Given the description of an element on the screen output the (x, y) to click on. 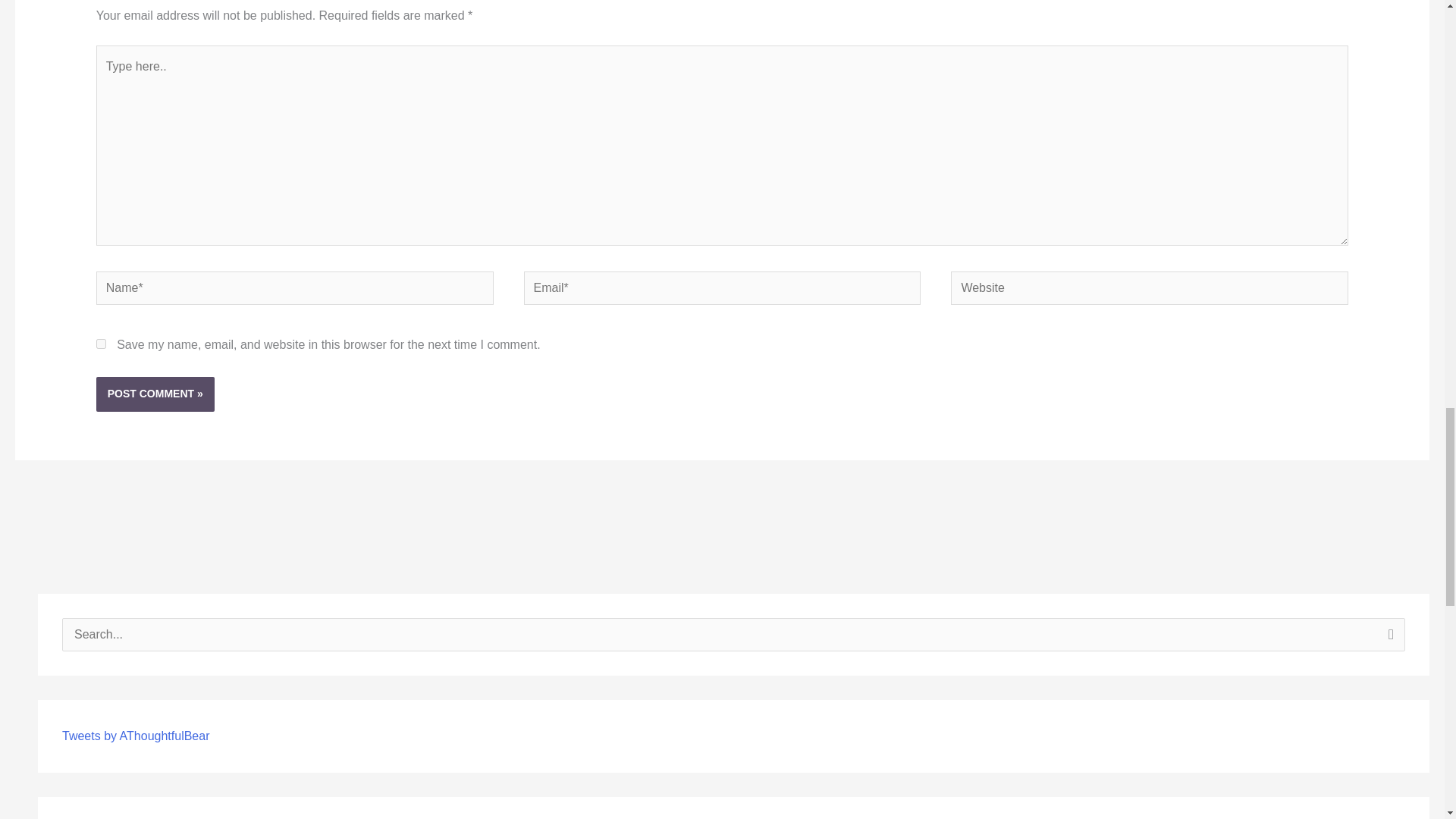
yes (101, 343)
